Given the description of an element on the screen output the (x, y) to click on. 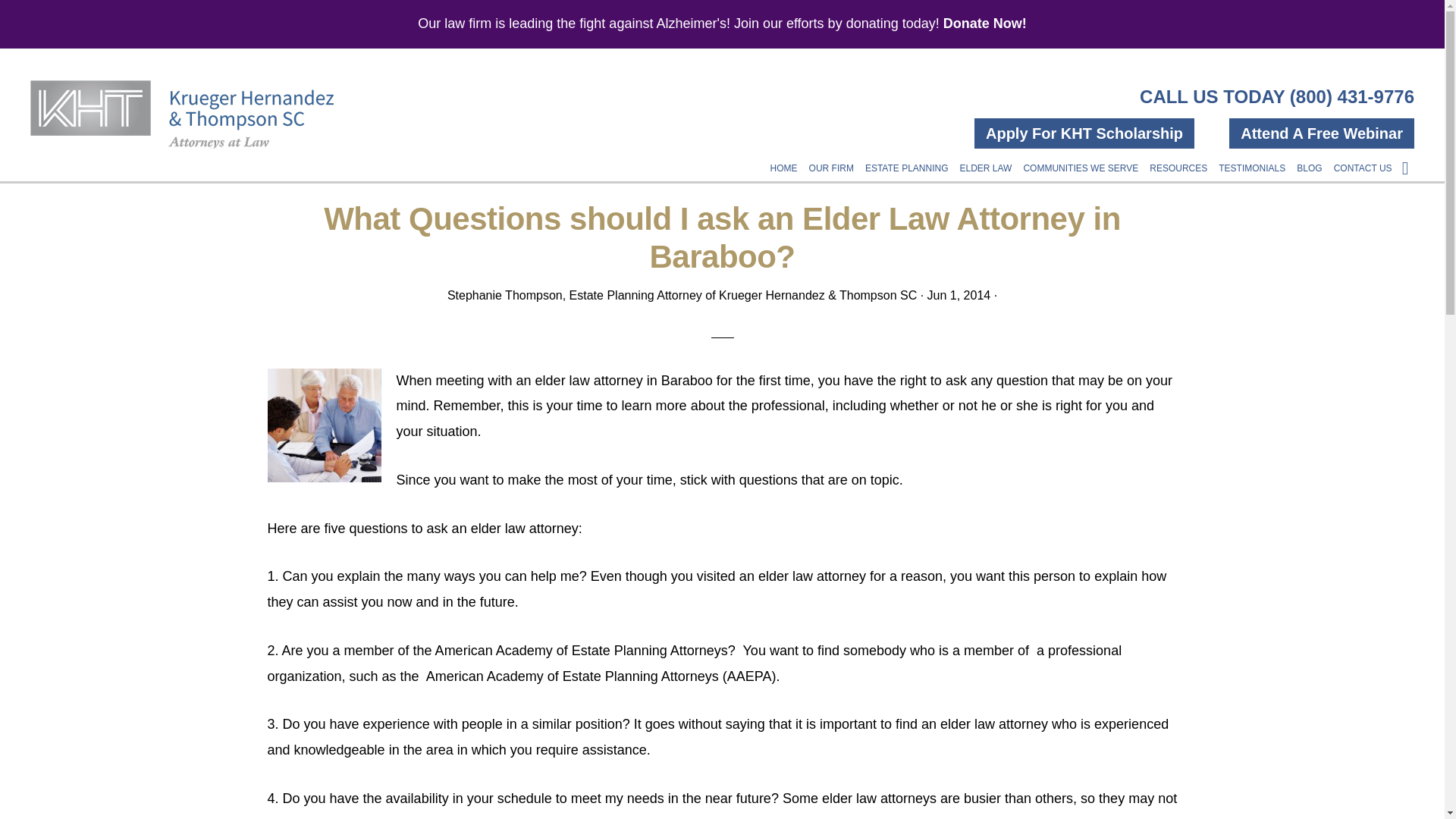
Donate Now! (984, 23)
HOME (784, 160)
ELDER LAW (986, 160)
OUR FIRM (831, 160)
COMMUNITIES WE SERVE (1080, 160)
ESTATE PLANNING (906, 160)
